Given the description of an element on the screen output the (x, y) to click on. 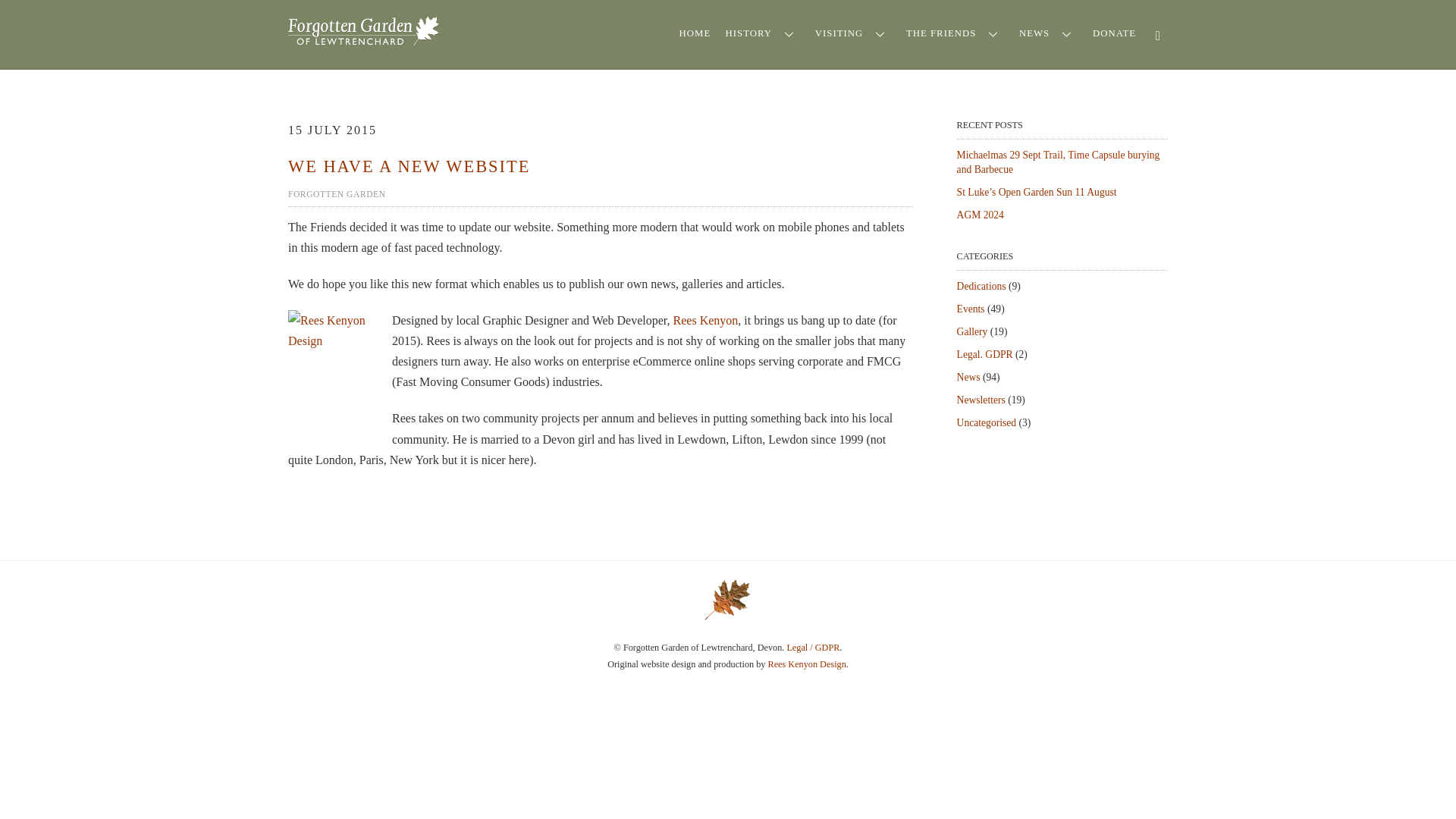
Michaelmas 29 Sept Trail, Time Capsule burying and Barbecue (1058, 162)
FORGOTTEN GARDEN (336, 194)
Forgotten Garden of Lewtrenchard (727, 615)
Legal. GDPR (984, 354)
HISTORY (762, 33)
VISITING (852, 33)
HOME (694, 33)
News (967, 377)
WE HAVE A NEW WEBSITE (408, 165)
THE FRIENDS (954, 33)
